Given the description of an element on the screen output the (x, y) to click on. 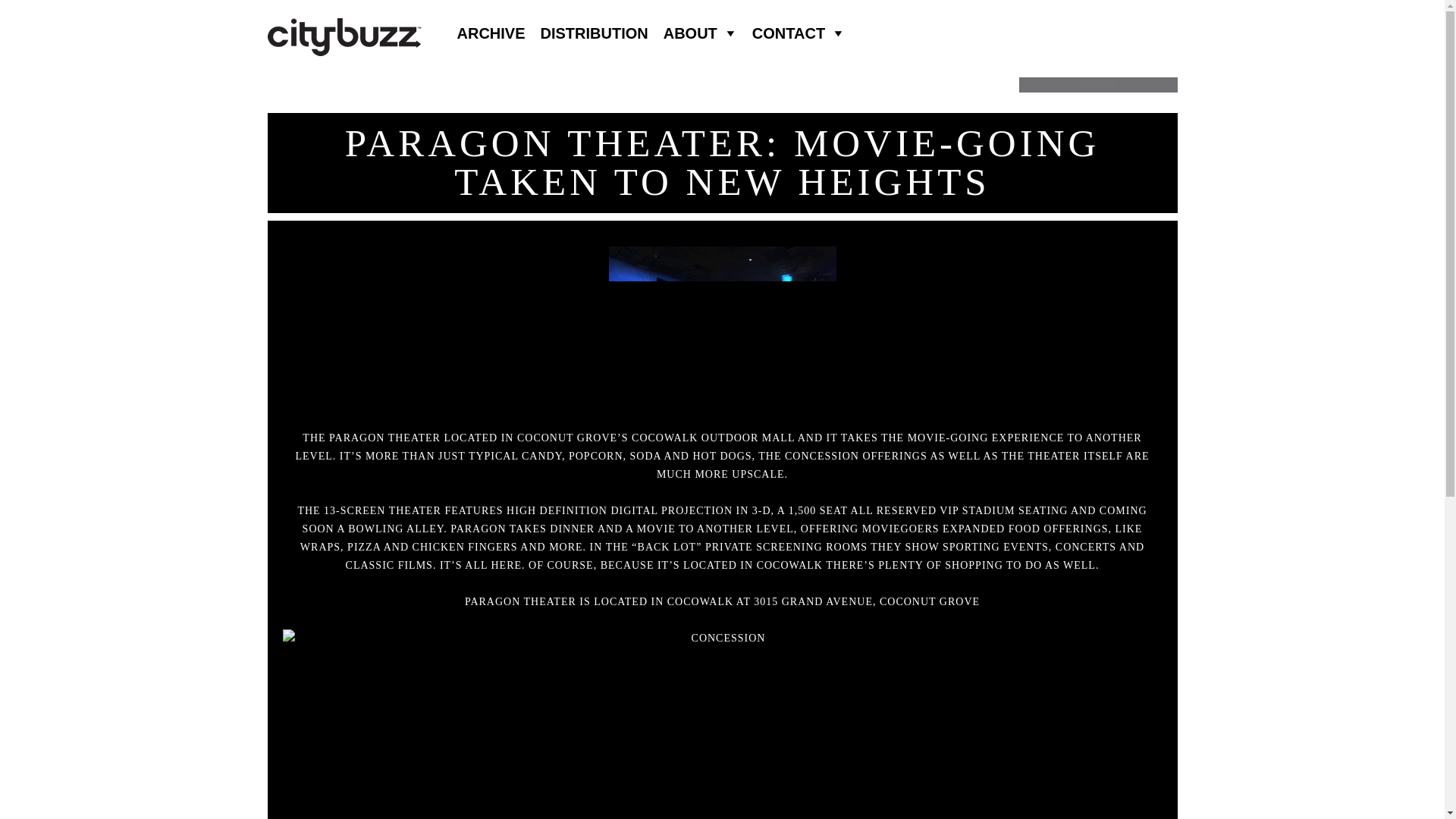
concessionBlue Interior low res (721, 328)
DISTRIBUTION (594, 33)
ABOUT (700, 33)
ARCHIVE (490, 33)
CONTACT (797, 33)
